Given the description of an element on the screen output the (x, y) to click on. 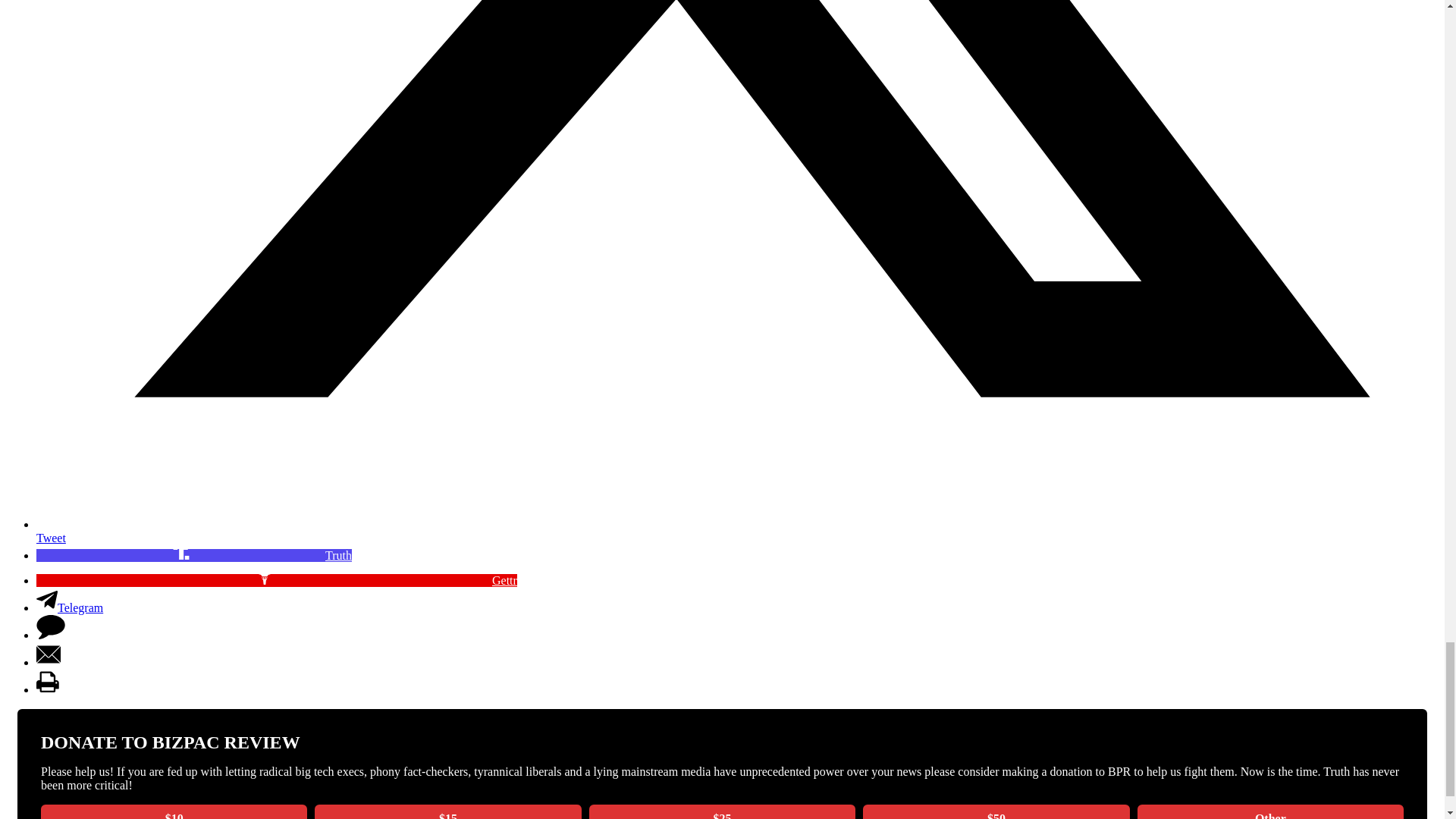
Gettr (276, 580)
Truth (194, 554)
Share on Gettr (276, 580)
Telegram (69, 607)
Share on Telegram (69, 607)
Share on Truth (194, 554)
